Given the description of an element on the screen output the (x, y) to click on. 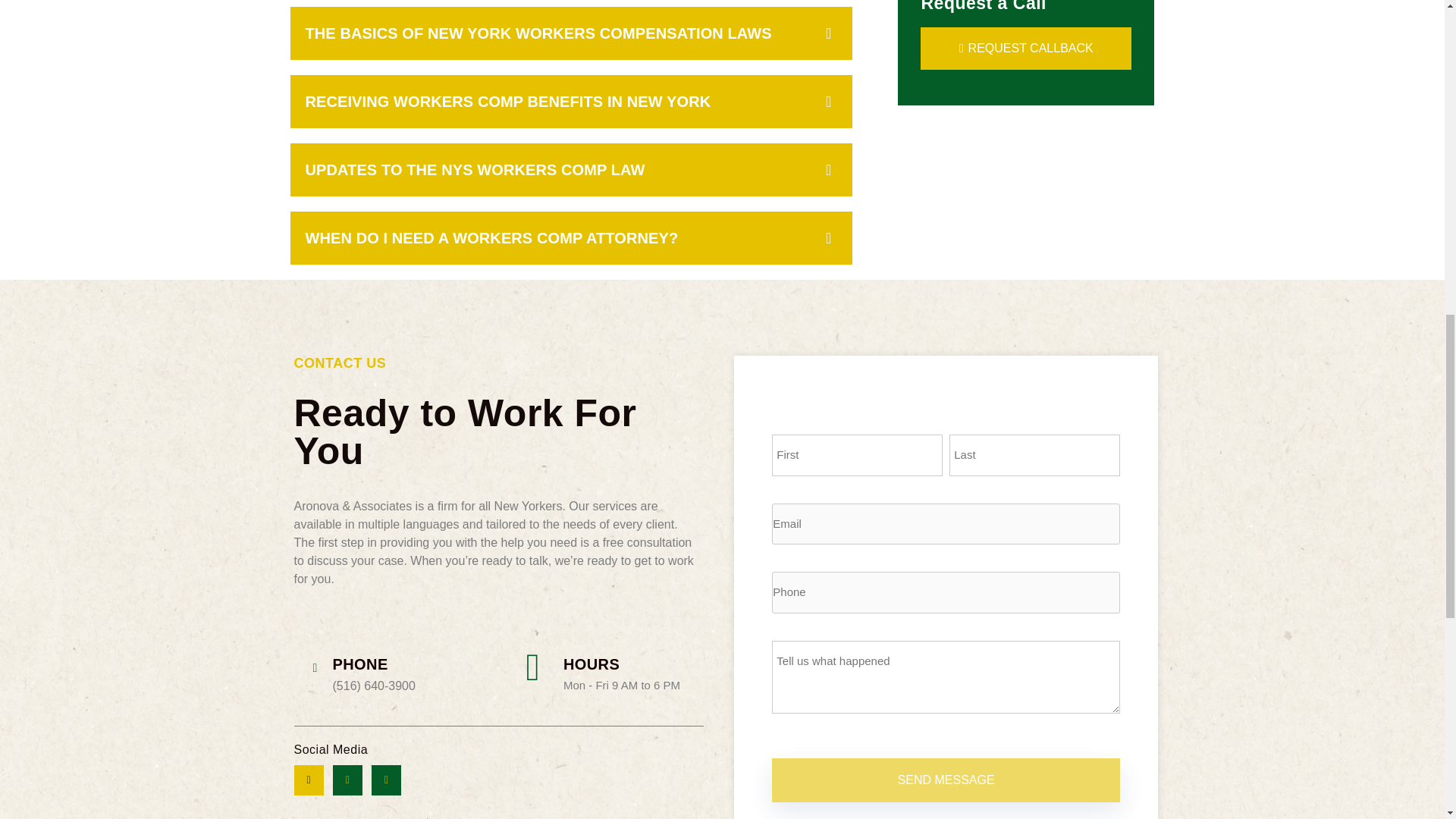
SEND MESSAGE (945, 780)
SEND MESSAGE (945, 780)
PHONE (359, 664)
REQUEST CALLBACK (1025, 48)
